Given the description of an element on the screen output the (x, y) to click on. 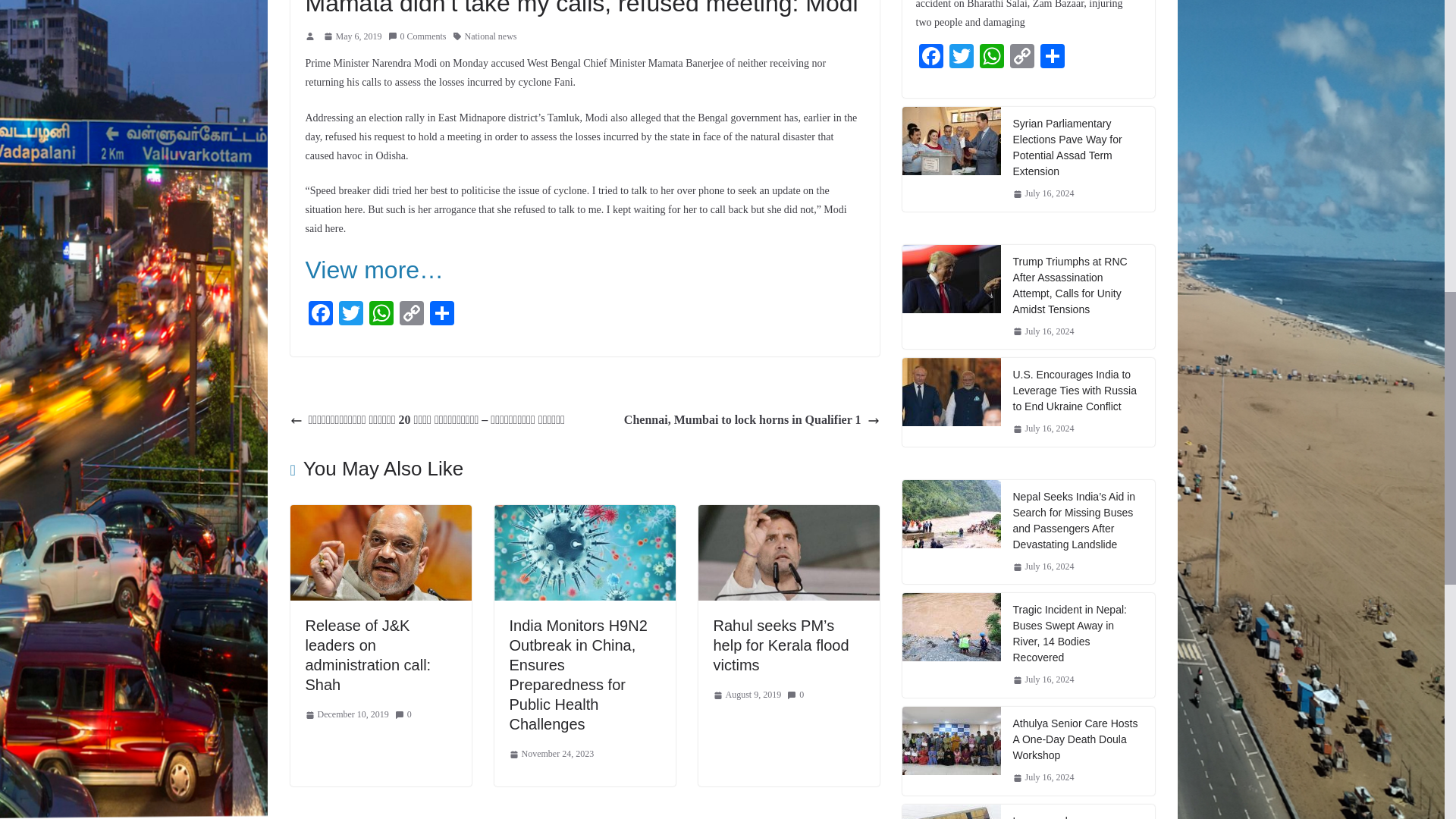
3:51 pm (352, 36)
Facebook (319, 315)
WhatsApp (380, 315)
Twitter (349, 315)
Copy Link (411, 315)
